Given the description of an element on the screen output the (x, y) to click on. 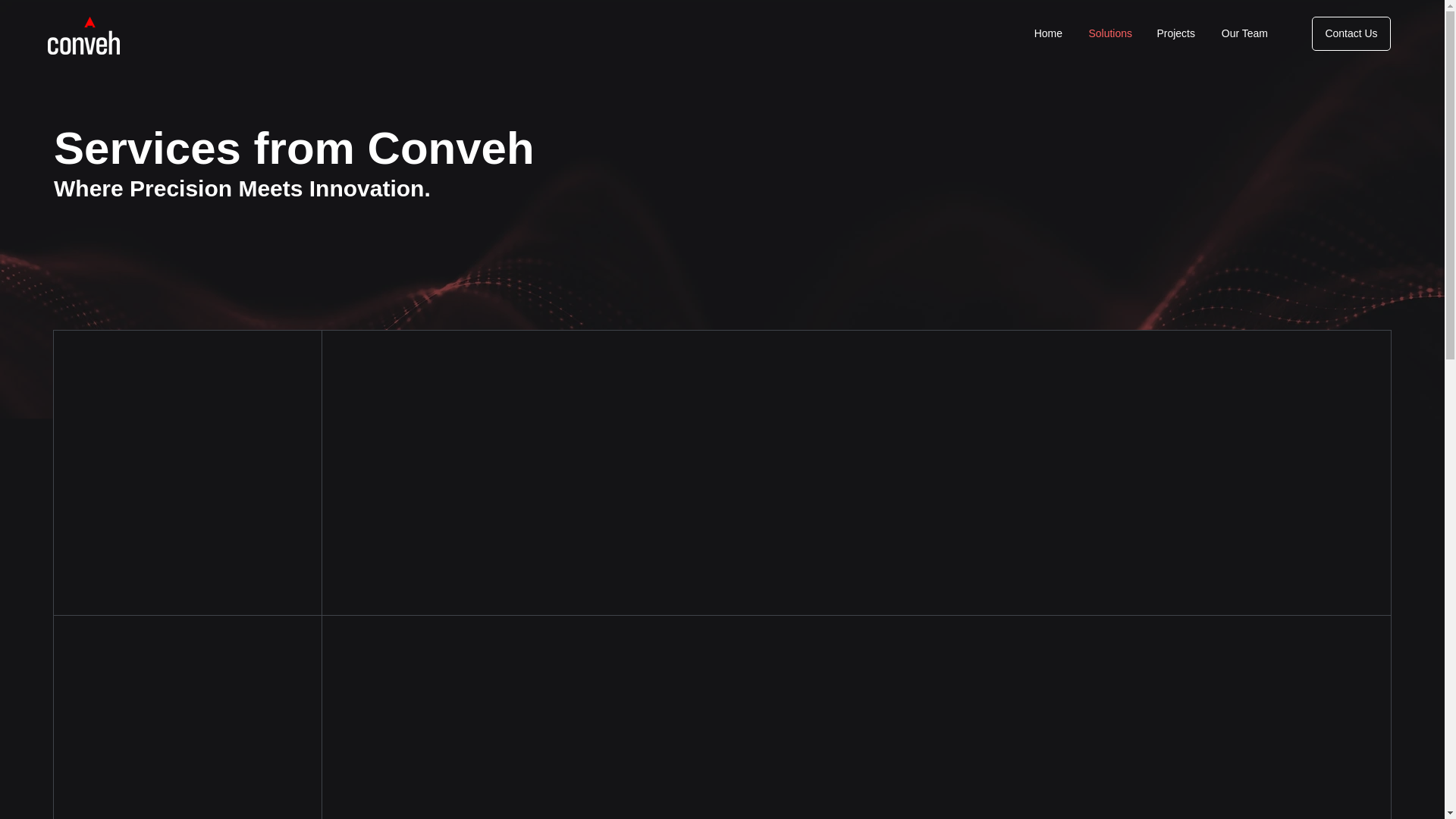
Home (1048, 33)
Our Team (1243, 33)
Contact Us (1350, 33)
Solutions (1108, 33)
Projects (1174, 33)
